Given the description of an element on the screen output the (x, y) to click on. 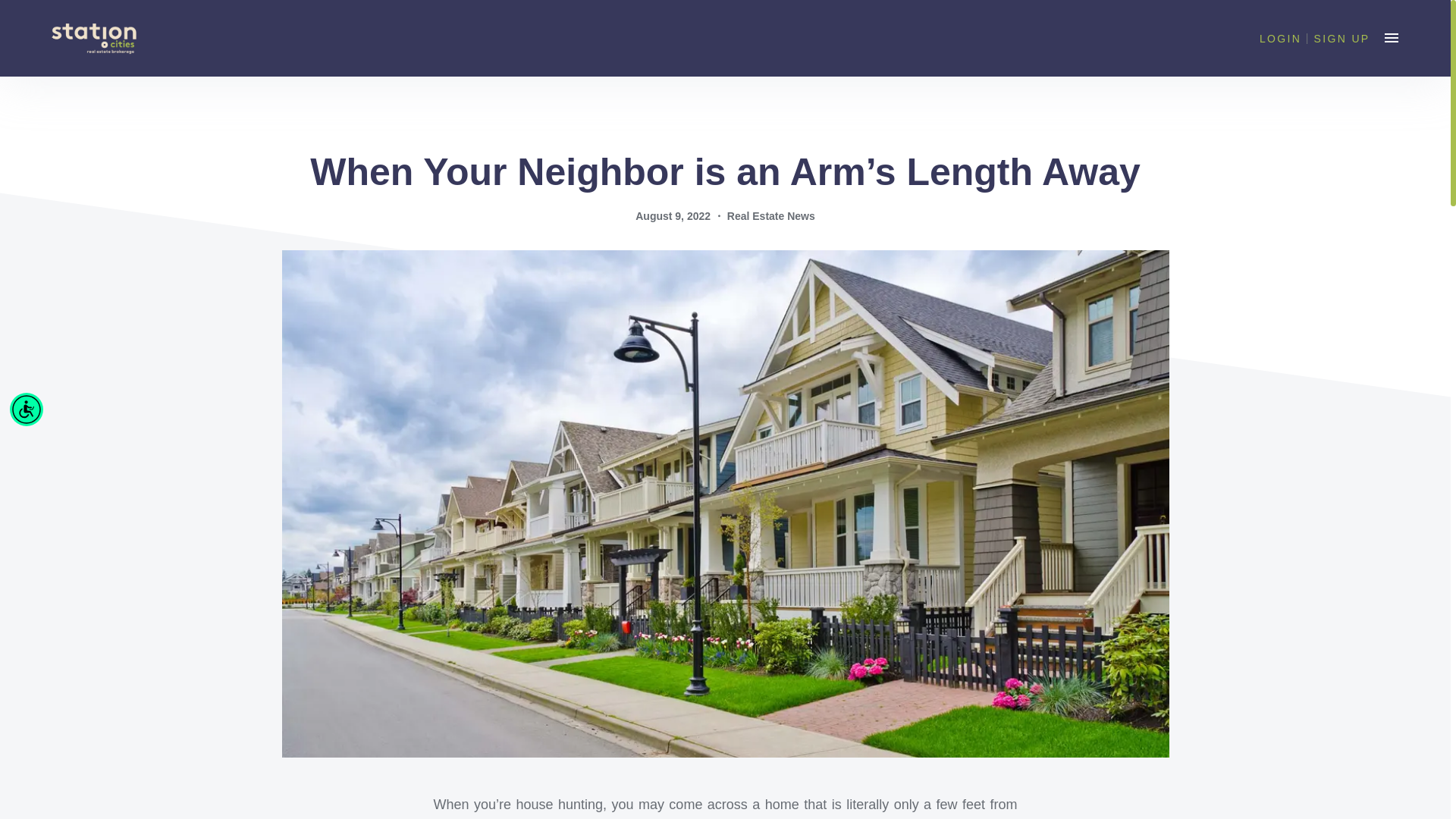
SIGN UP (1342, 38)
Accessibility Menu (26, 409)
LOGIN (1280, 38)
